Given the description of an element on the screen output the (x, y) to click on. 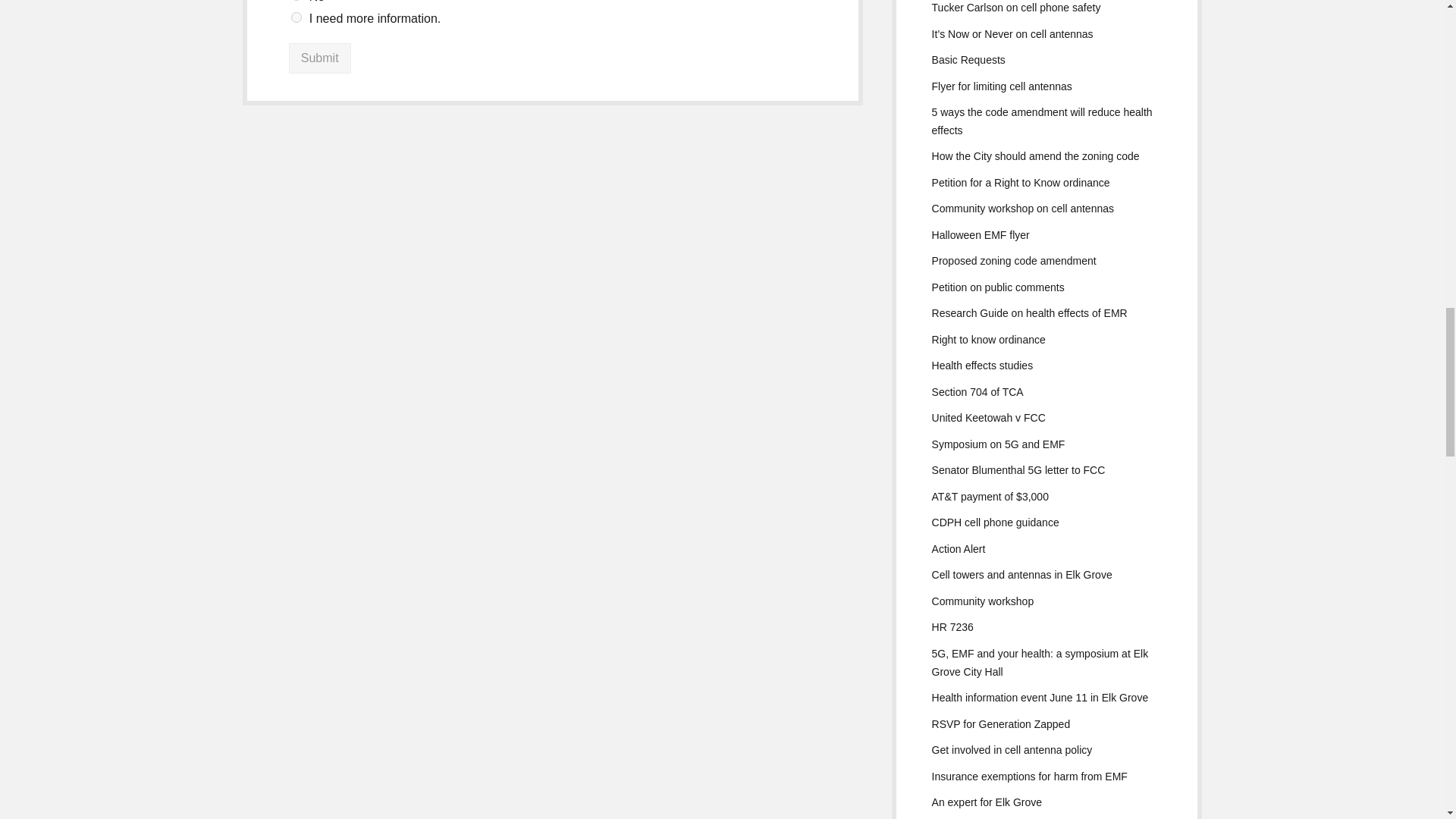
I need more information.   (296, 17)
